Given the description of an element on the screen output the (x, y) to click on. 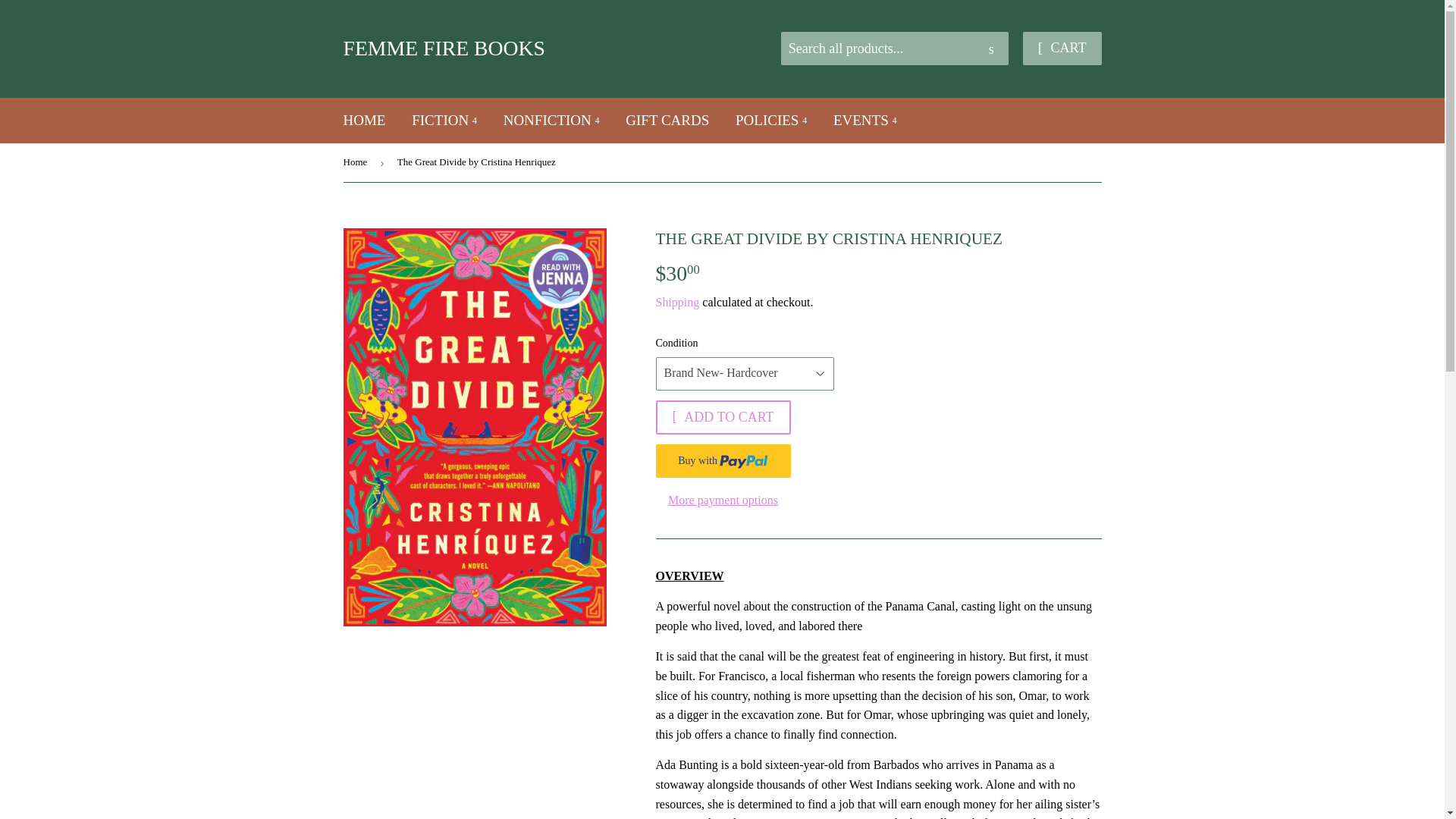
CART (1062, 48)
Search (991, 49)
FEMME FIRE BOOKS (532, 48)
